Given the description of an element on the screen output the (x, y) to click on. 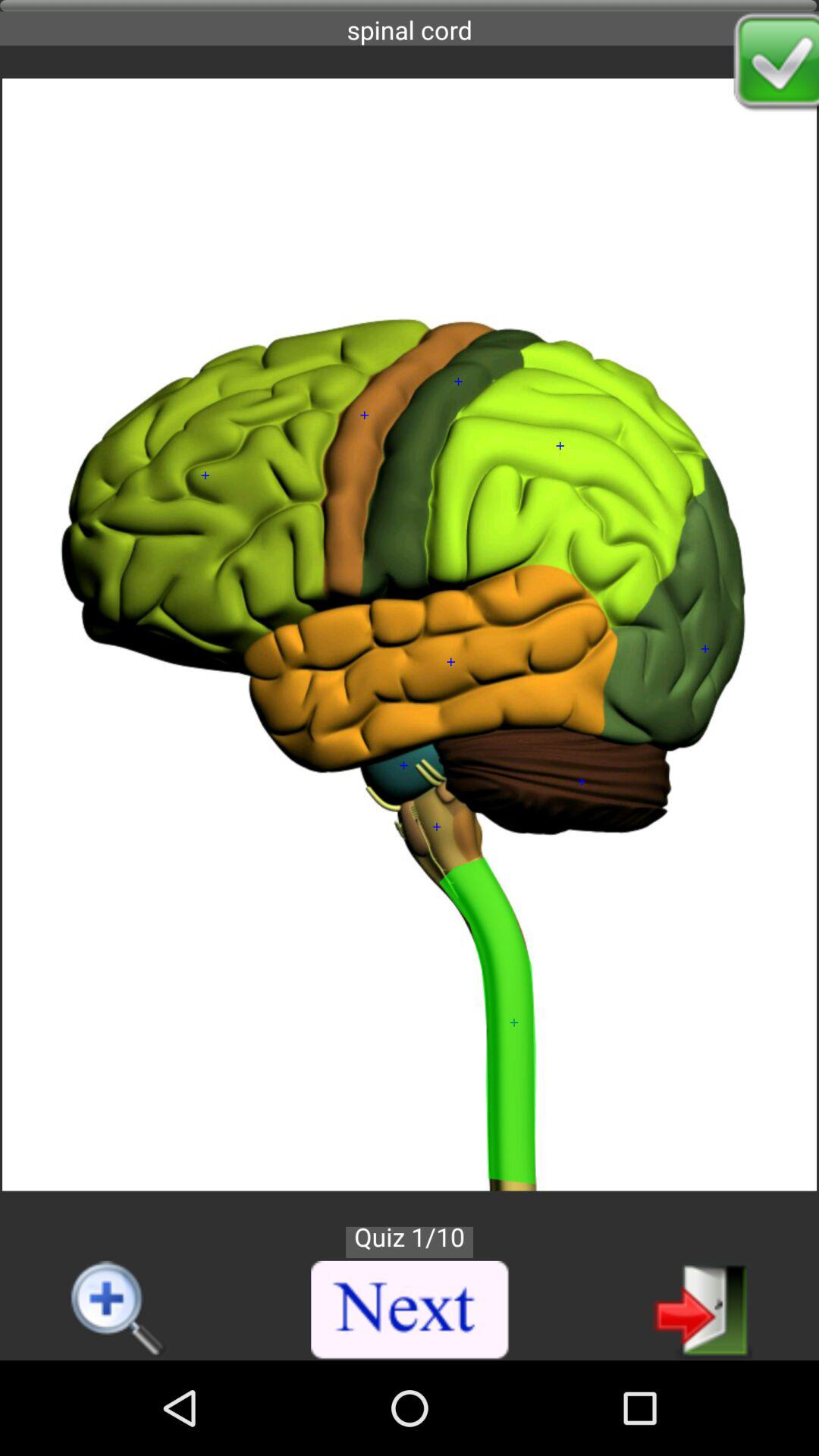
next quiz (410, 1310)
